Given the description of an element on the screen output the (x, y) to click on. 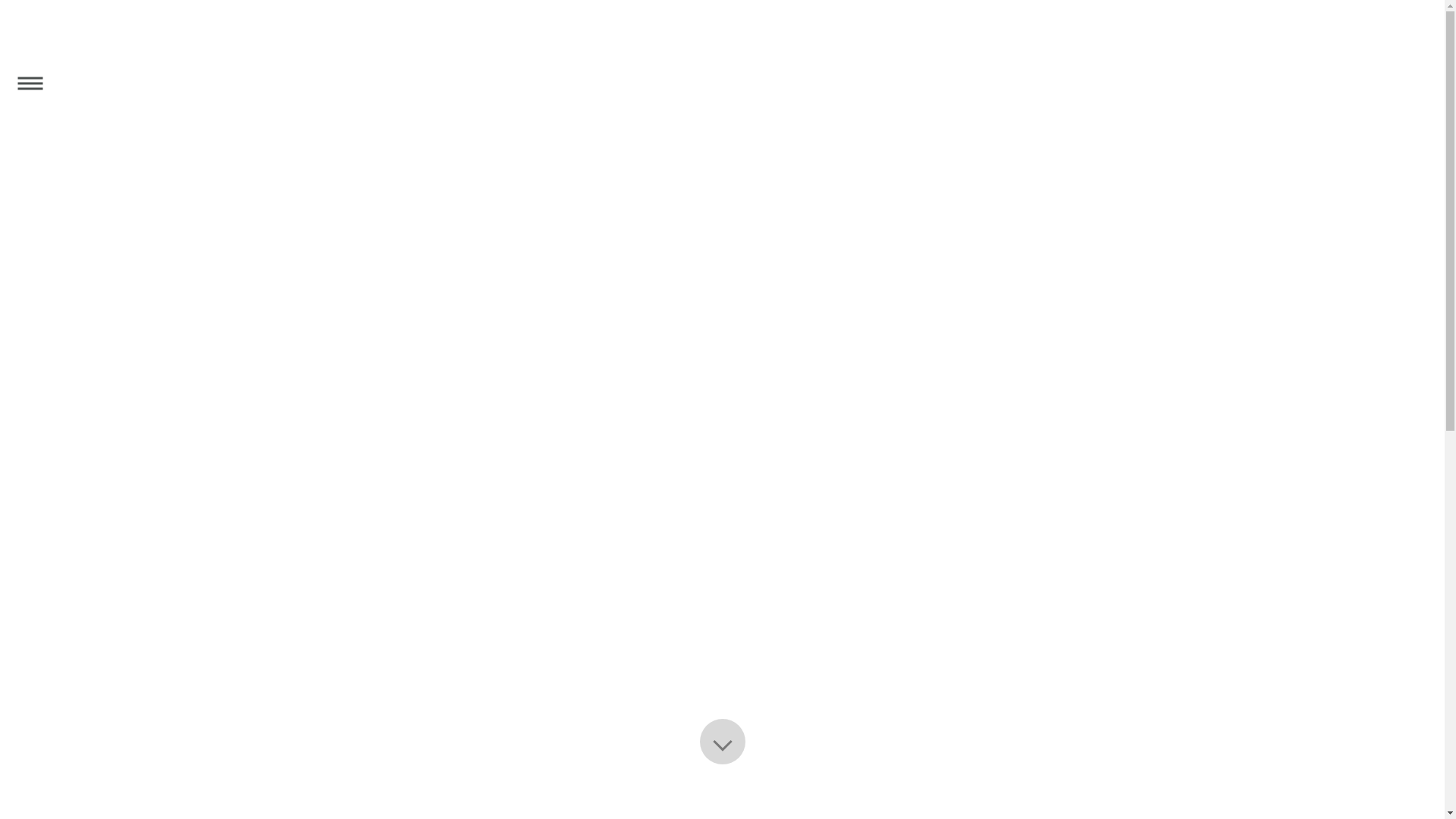
Skip to content Element type: text (0, 0)
